Given the description of an element on the screen output the (x, y) to click on. 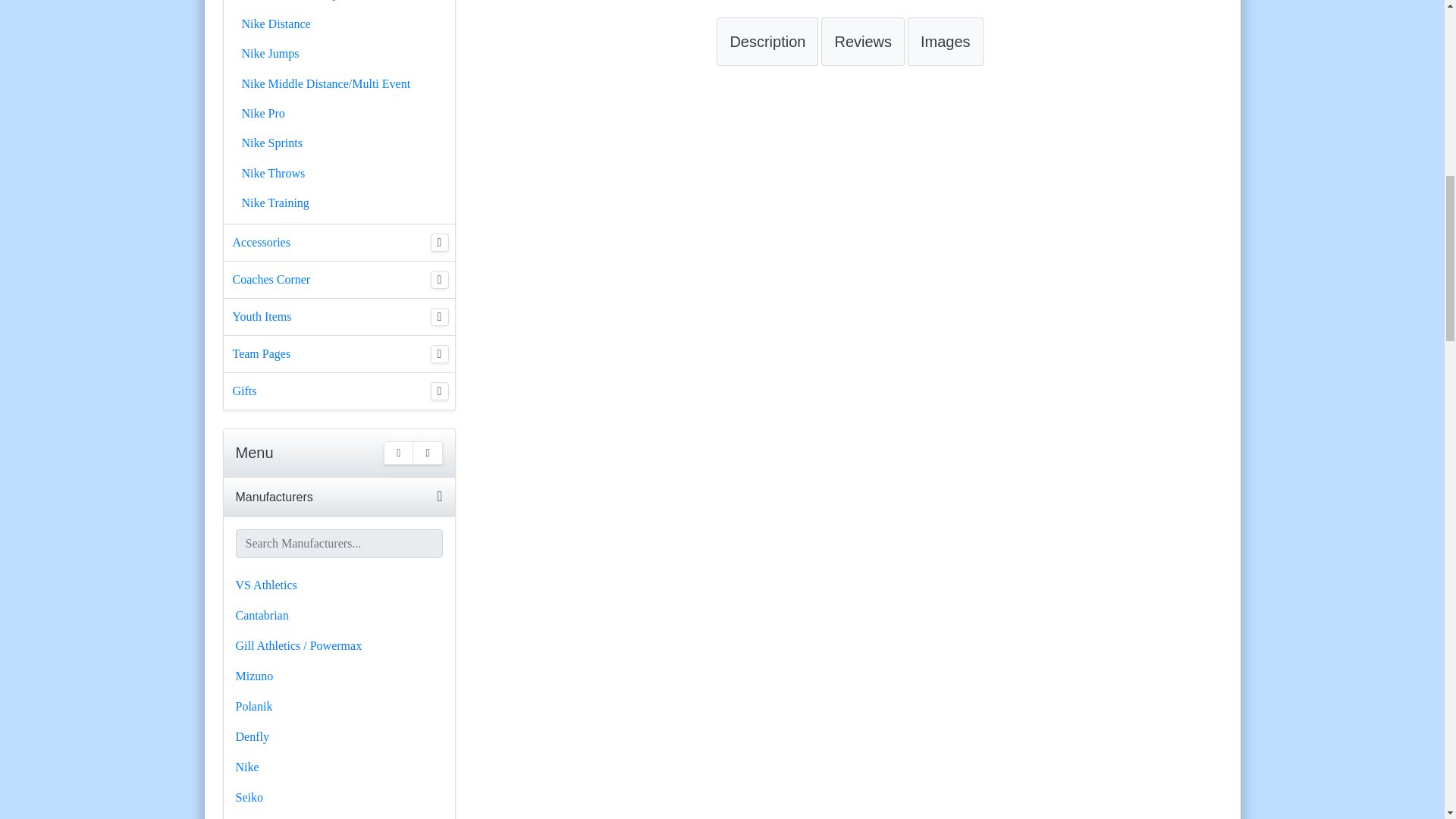
Collapse All (427, 453)
Expand All (398, 453)
